Given the description of an element on the screen output the (x, y) to click on. 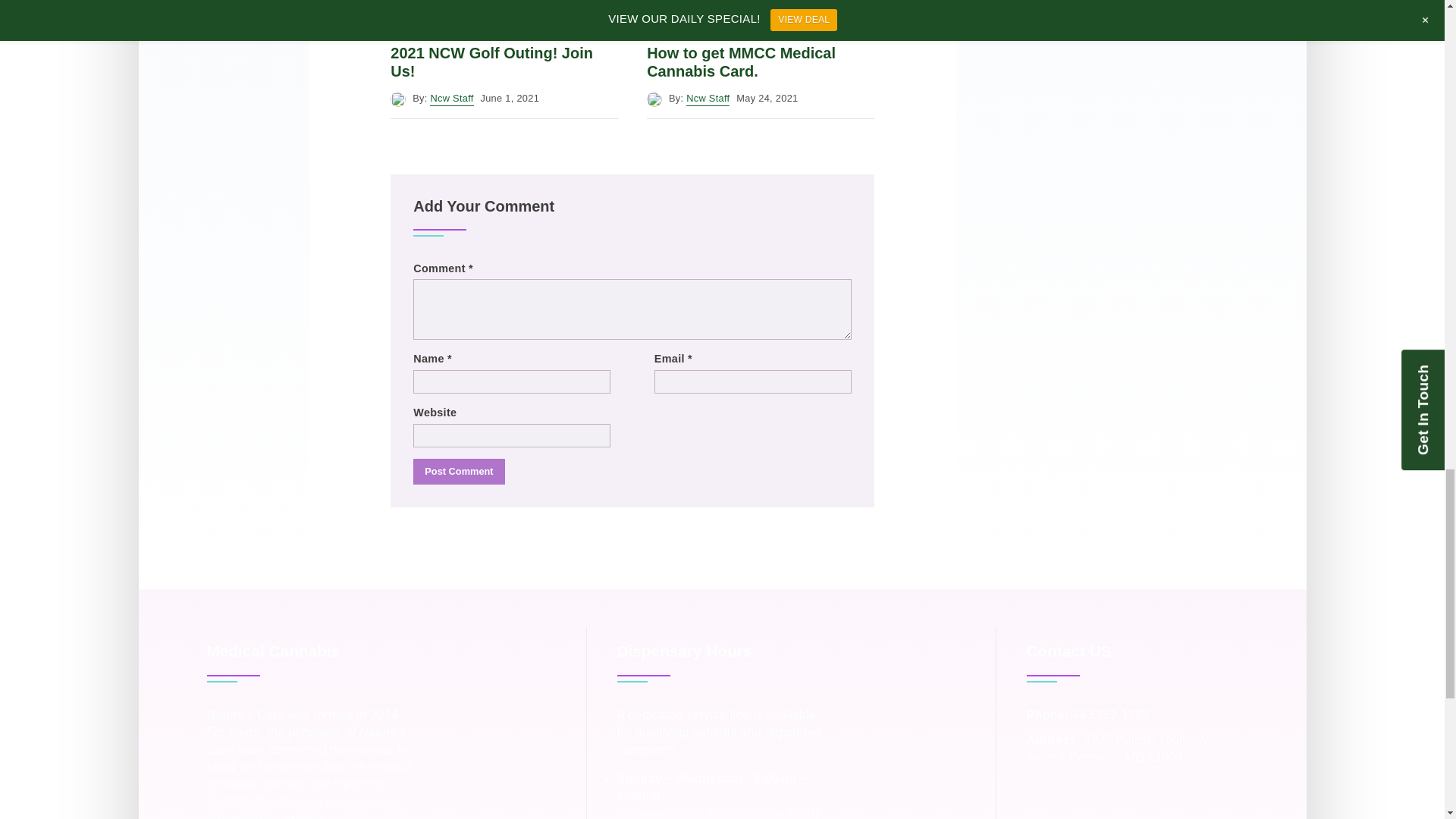
Post Comment (458, 471)
